Given the description of an element on the screen output the (x, y) to click on. 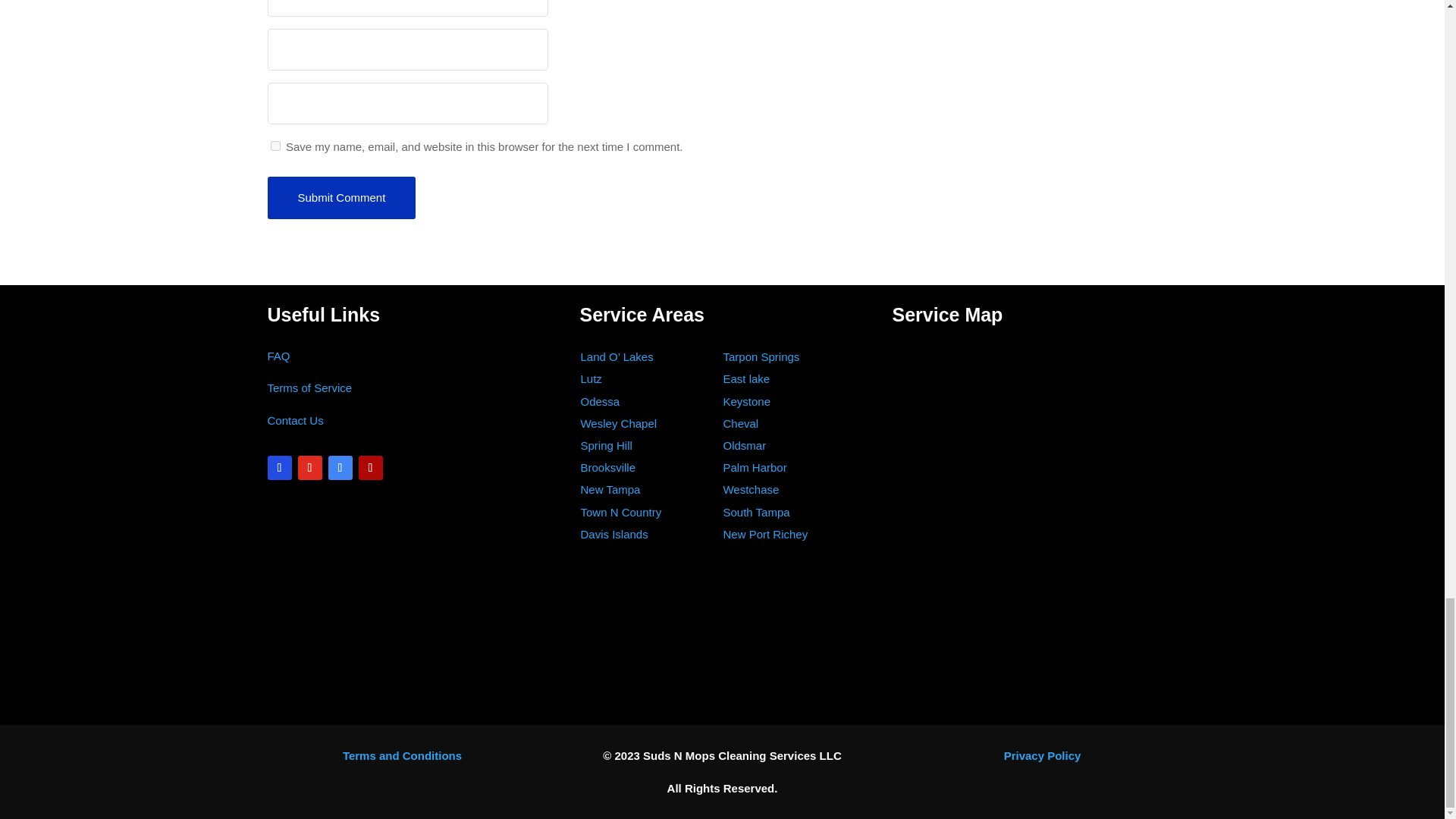
Follow on Google (339, 467)
Follow on Instagram (309, 467)
Follow on Facebook (278, 467)
yes (274, 145)
Follow on Yelp (369, 467)
